Given the description of an element on the screen output the (x, y) to click on. 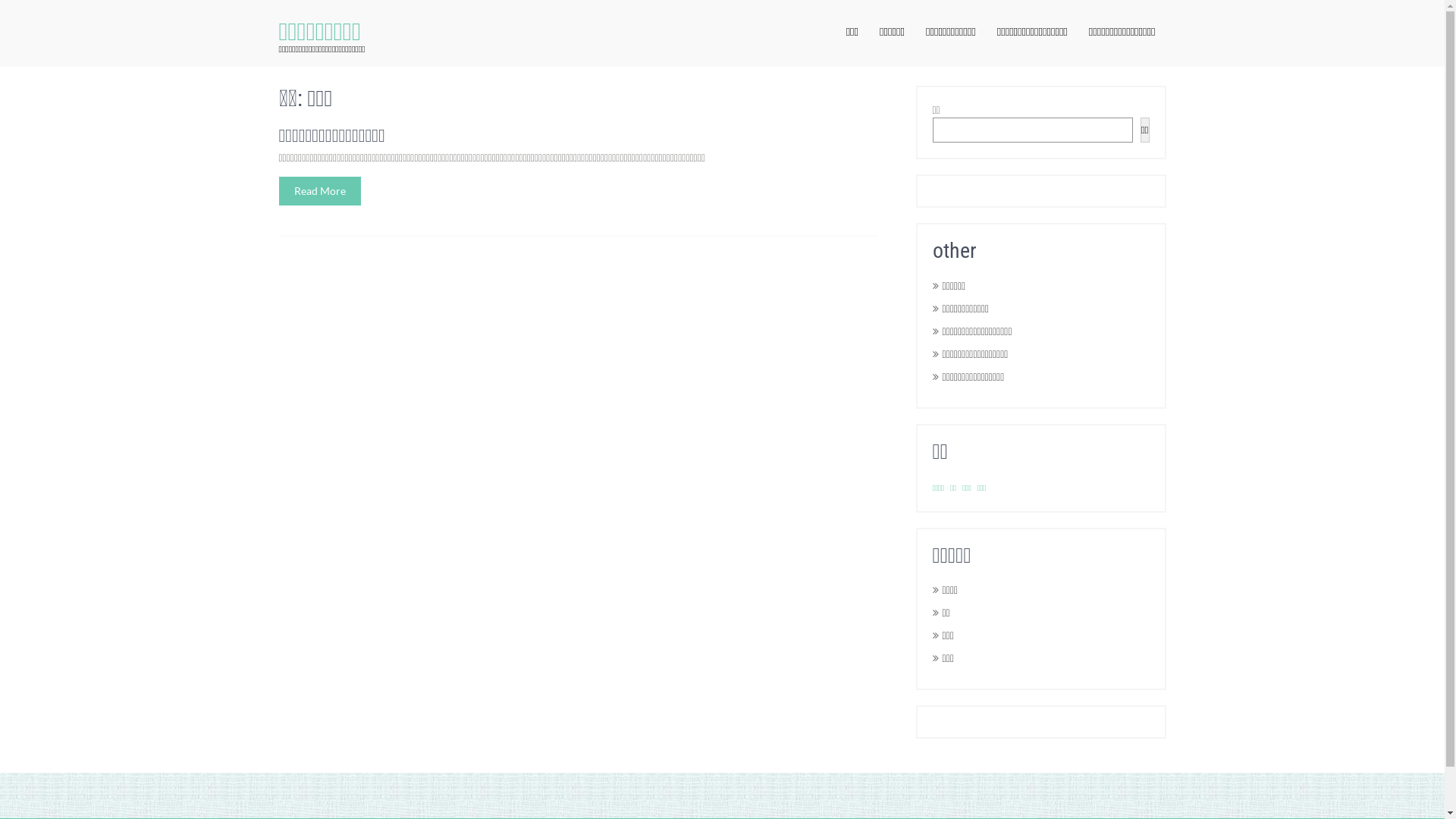
Read More Element type: text (319, 190)
